Given the description of an element on the screen output the (x, y) to click on. 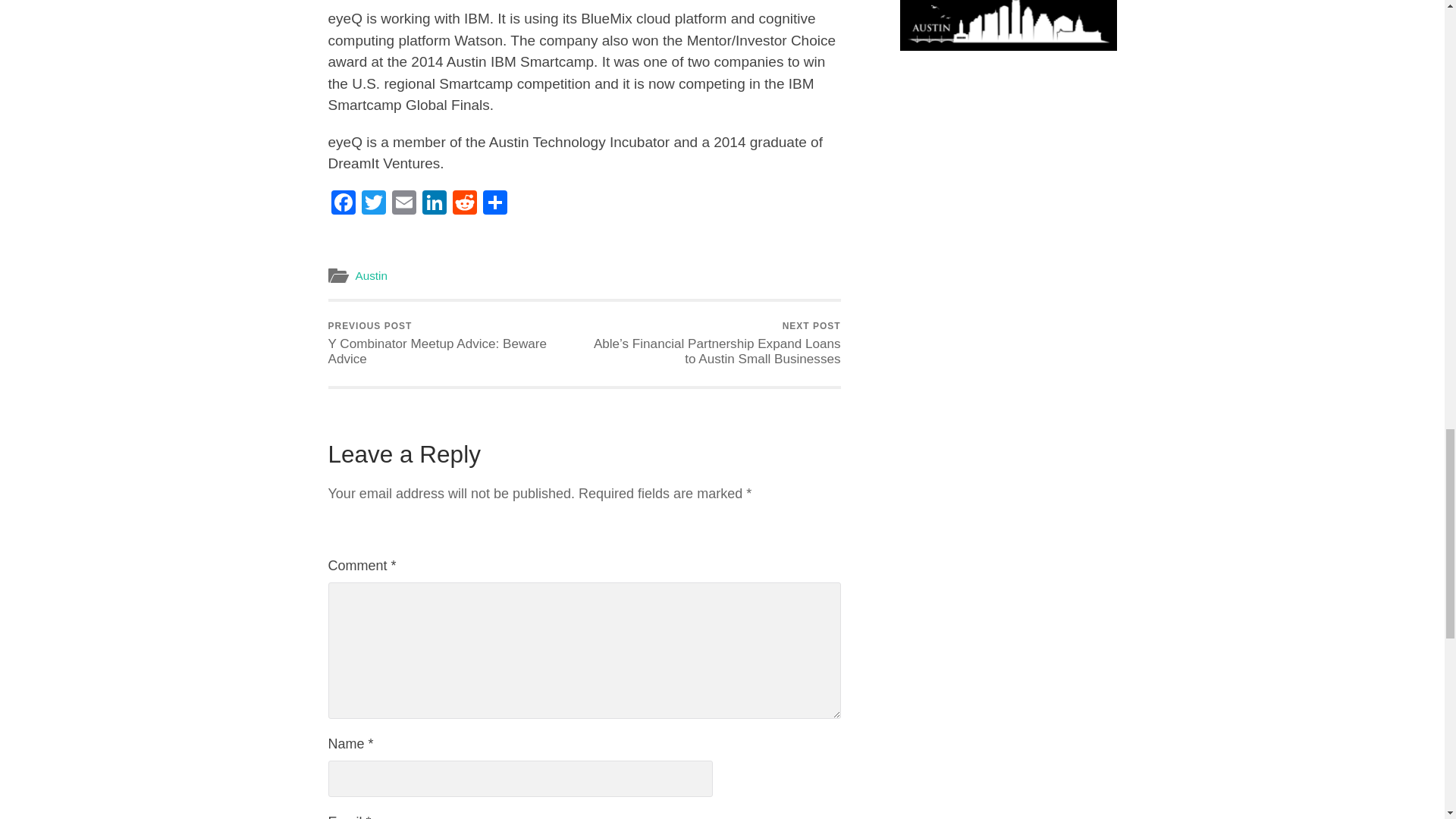
Facebook (342, 204)
Share (494, 204)
Email (452, 343)
Austin (403, 204)
Reddit (371, 275)
Facebook (463, 204)
LinkedIn (342, 204)
Twitter (433, 204)
LinkedIn (373, 204)
Twitter (433, 204)
Reddit (373, 204)
Email (463, 204)
